Given the description of an element on the screen output the (x, y) to click on. 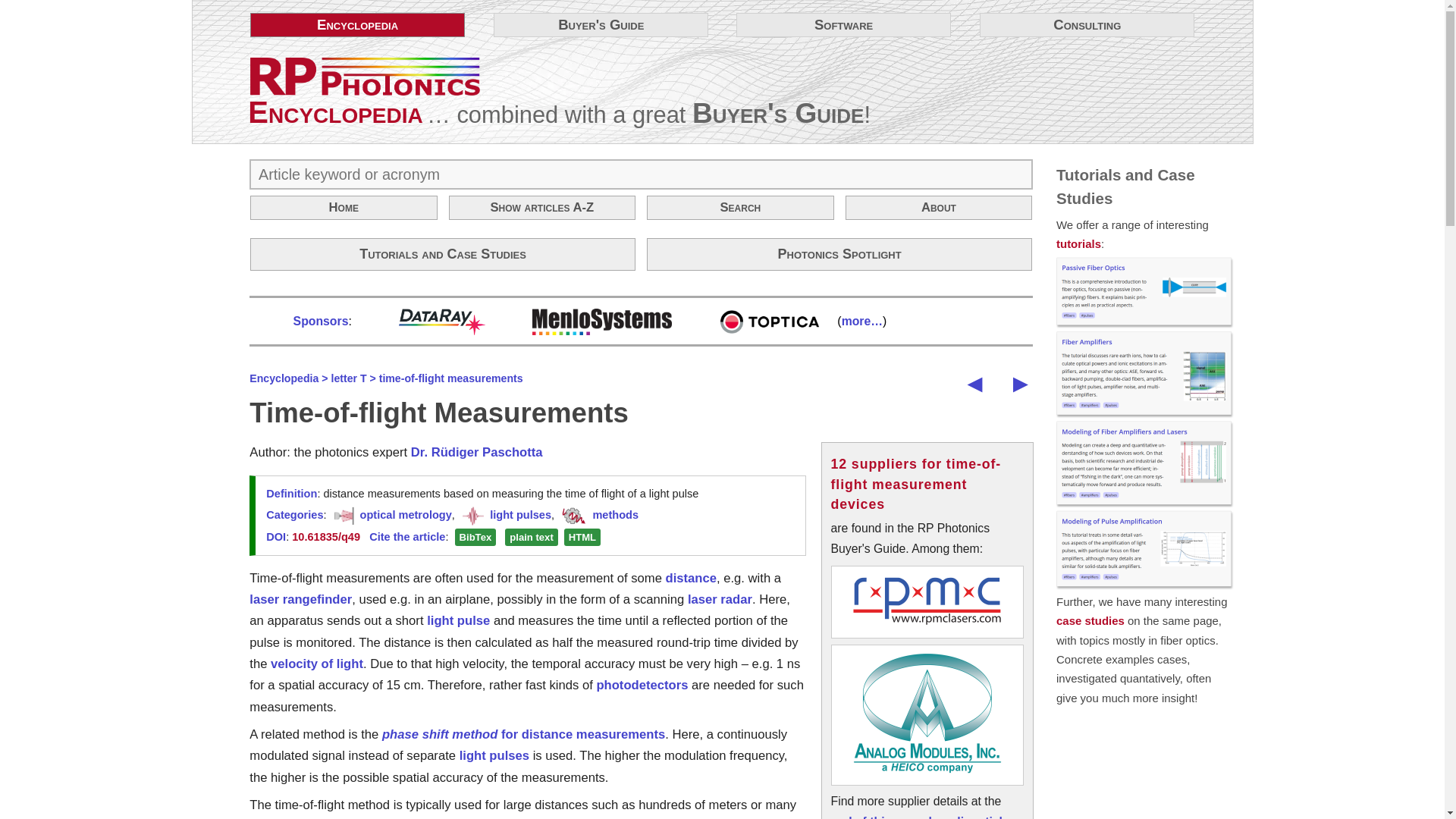
Sponsors (321, 320)
12 suppliers for time-of-flight measurement devices (916, 483)
Tutorials and Case Studies (442, 254)
About (938, 207)
click to learn on RP Photonics (365, 76)
Buyer's Guide (778, 112)
Show articles A-Z (541, 207)
Visit the sponsor profile of TOPTICA Photonics (748, 320)
Visit the sponsor profile of Menlo Systems (579, 320)
previous article (974, 383)
Photonics Spotlight (838, 254)
